Given the description of an element on the screen output the (x, y) to click on. 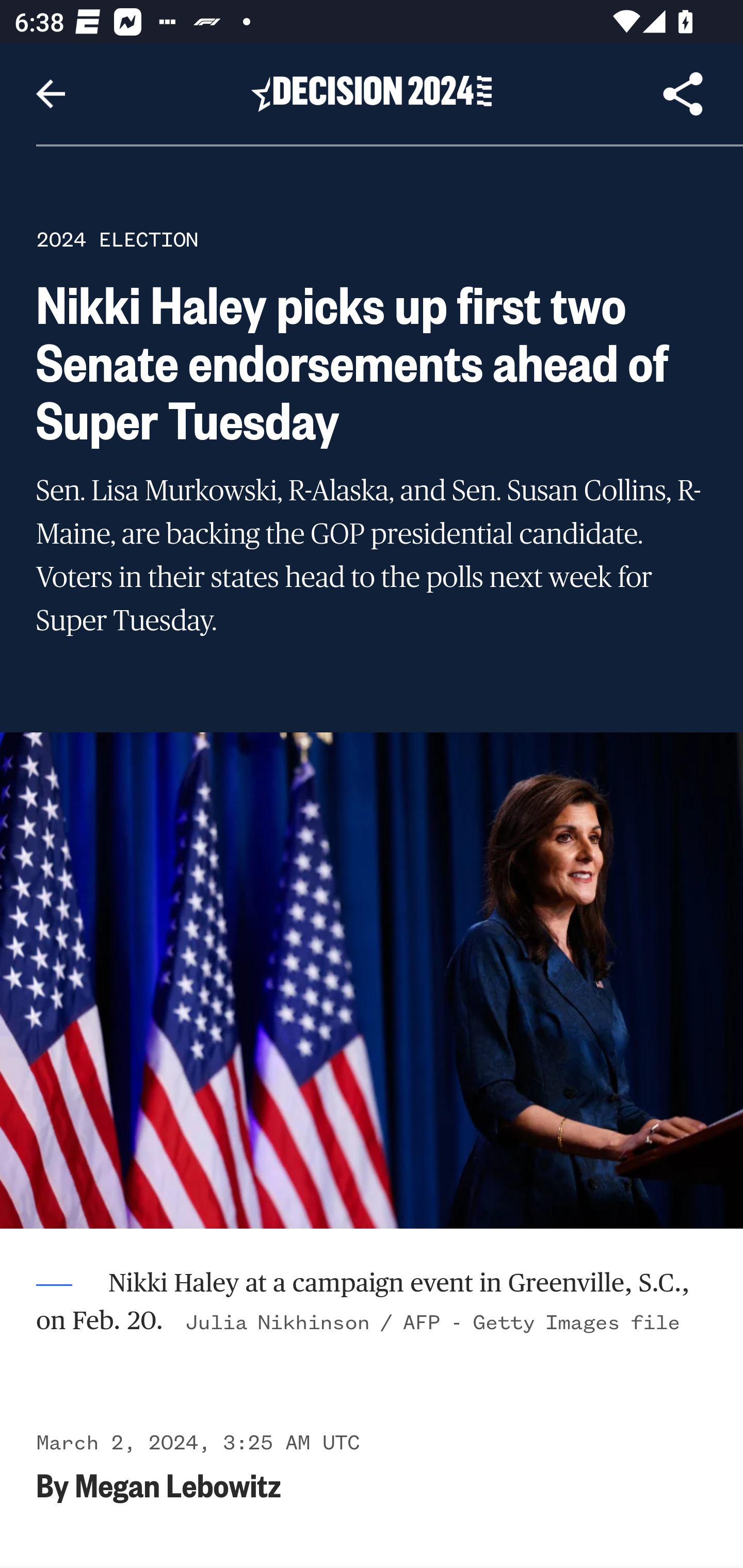
Navigate up (50, 93)
Share Article, button (683, 94)
Header, Decision 2024 (371, 93)
2024 ELECTION (117, 239)
